Given the description of an element on the screen output the (x, y) to click on. 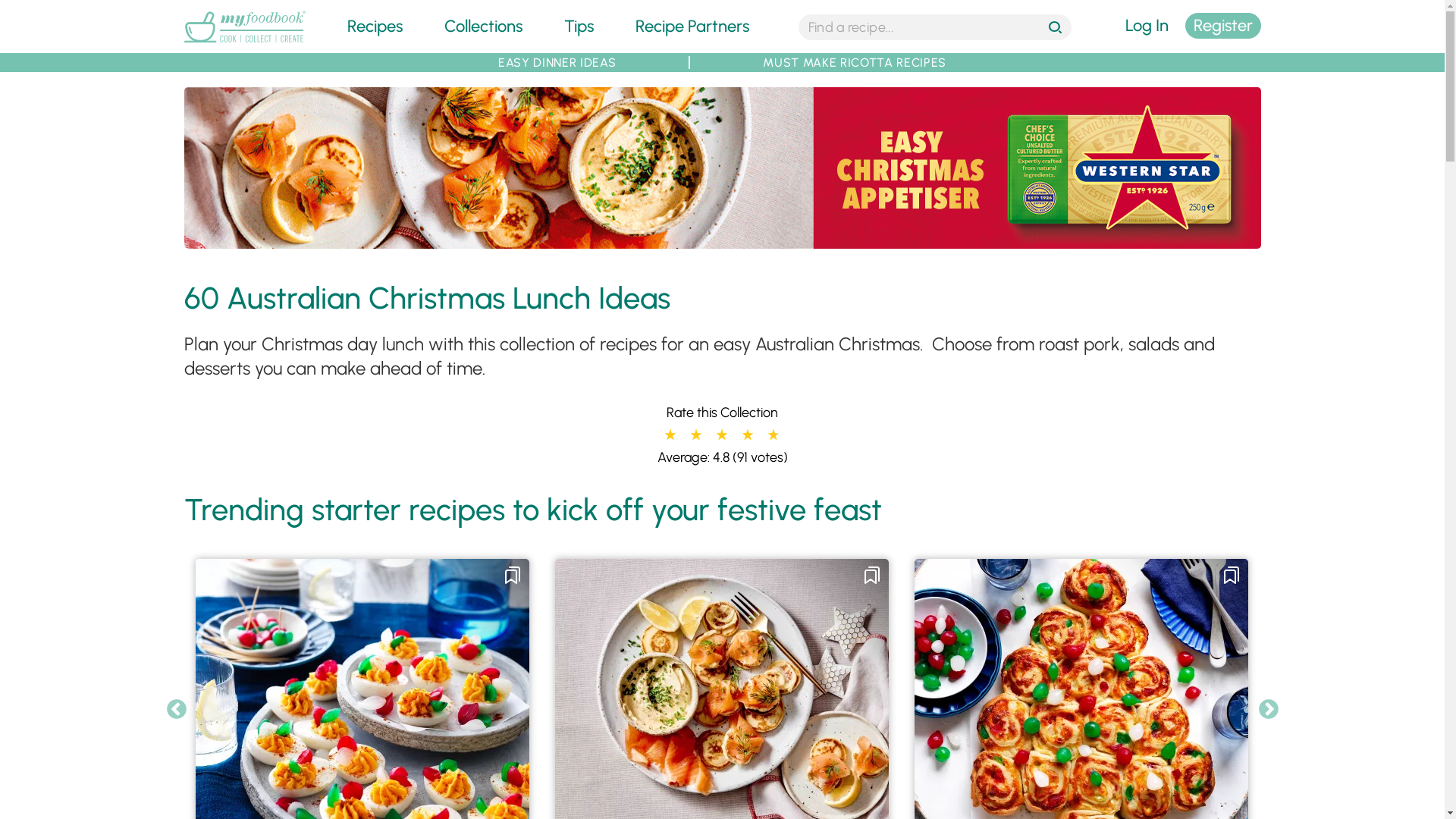
Give it 5/5 Element type: text (771, 435)
MUST MAKE RICOTTA RECIPES Element type: text (854, 62)
go Element type: text (1057, 28)
Next Element type: text (1268, 709)
Recipe Partners Element type: text (692, 25)
Save recipe Element type: hover (1231, 575)
Give it 1/5 Element type: text (669, 435)
Tips Element type: text (578, 25)
Log In Element type: text (1146, 25)
EASY DINNER IDEAS Element type: text (556, 62)
Register Element type: text (1222, 25)
Collections Element type: text (483, 25)
Recipes Element type: text (374, 25)
Give it 2/5 Element type: text (695, 435)
Previous Element type: text (176, 709)
Rate Element type: text (16, 8)
myfoodbook home Element type: hover (243, 43)
How to make Blini and whipped butter Element type: hover (721, 167)
Give it 3/5 Element type: text (720, 435)
How to make Blini and whipped butter Element type: hover (721, 238)
Save recipe Element type: hover (512, 575)
Save recipe Element type: hover (871, 575)
Give it 4/5 Element type: text (746, 435)
